Given the description of an element on the screen output the (x, y) to click on. 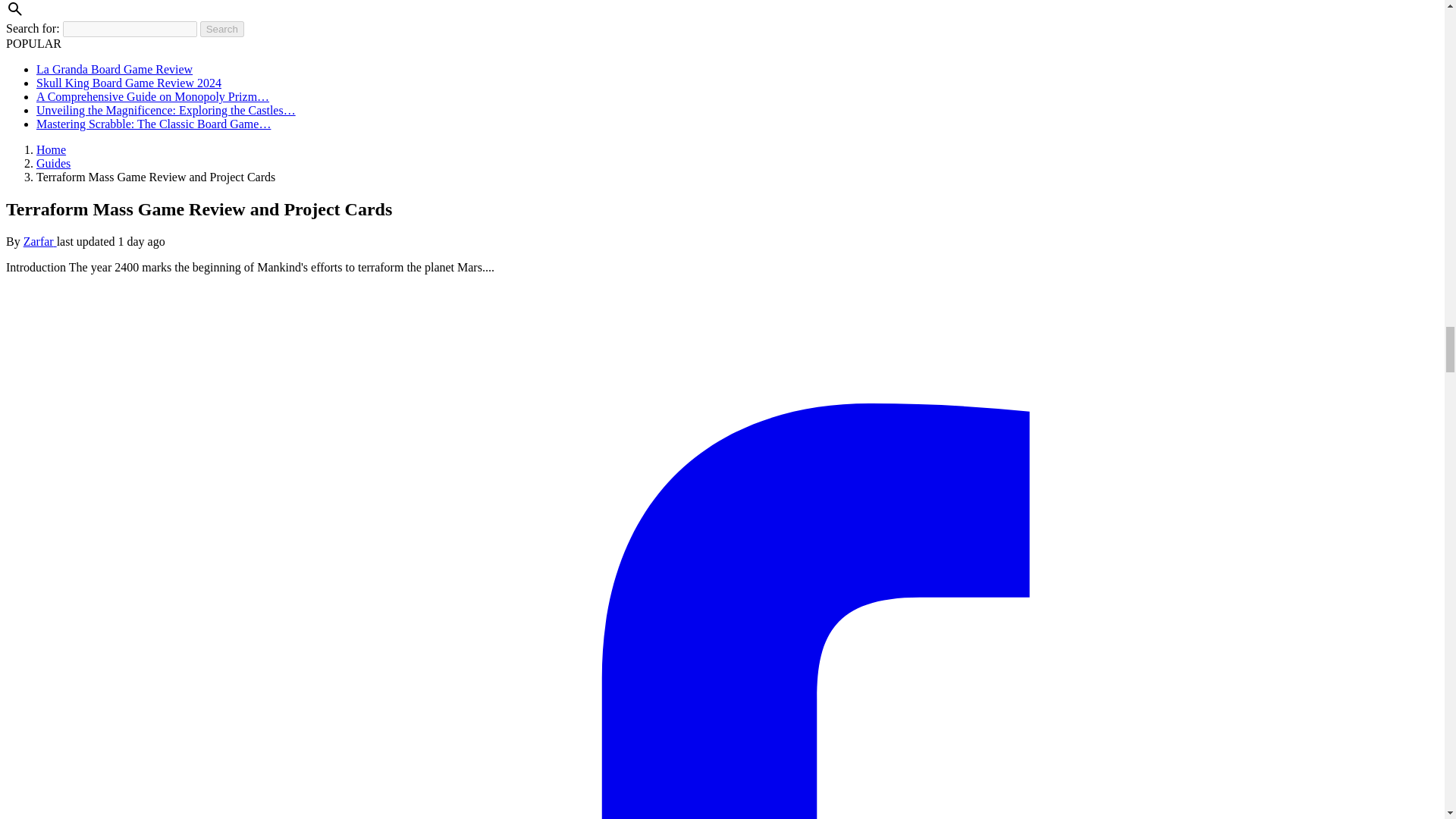
Skull King Board Game Review 2024 (128, 82)
Guides (52, 163)
Search (222, 28)
Zarfar (39, 241)
Search (222, 28)
La Granda Board Game Review (114, 69)
Home (50, 149)
